Given the description of an element on the screen output the (x, y) to click on. 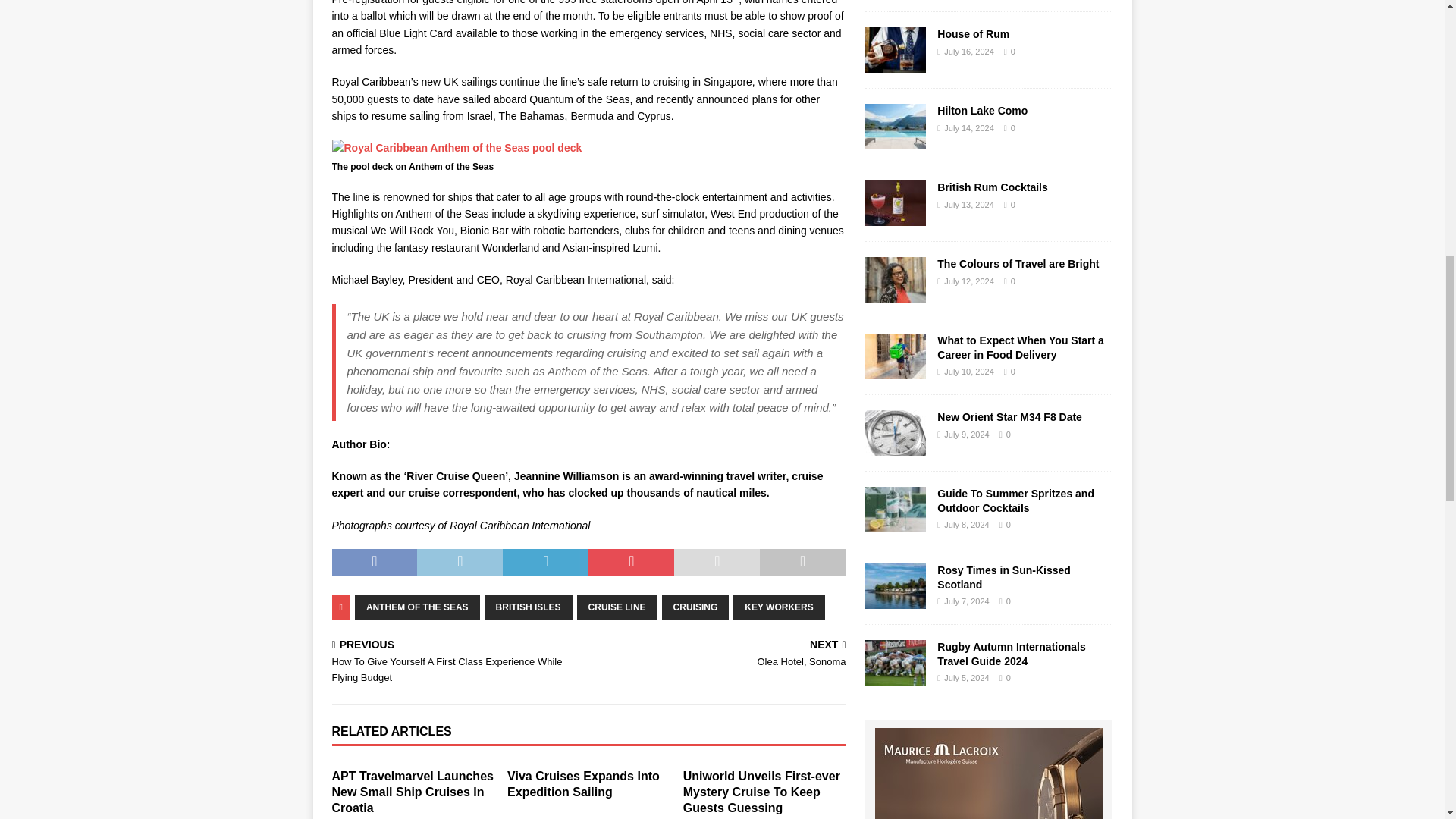
APT Travelmarvel Launches New Small Ship Cruises In Croatia (412, 791)
Viva Cruises Expands Into Expedition Sailing (582, 783)
